Given the description of an element on the screen output the (x, y) to click on. 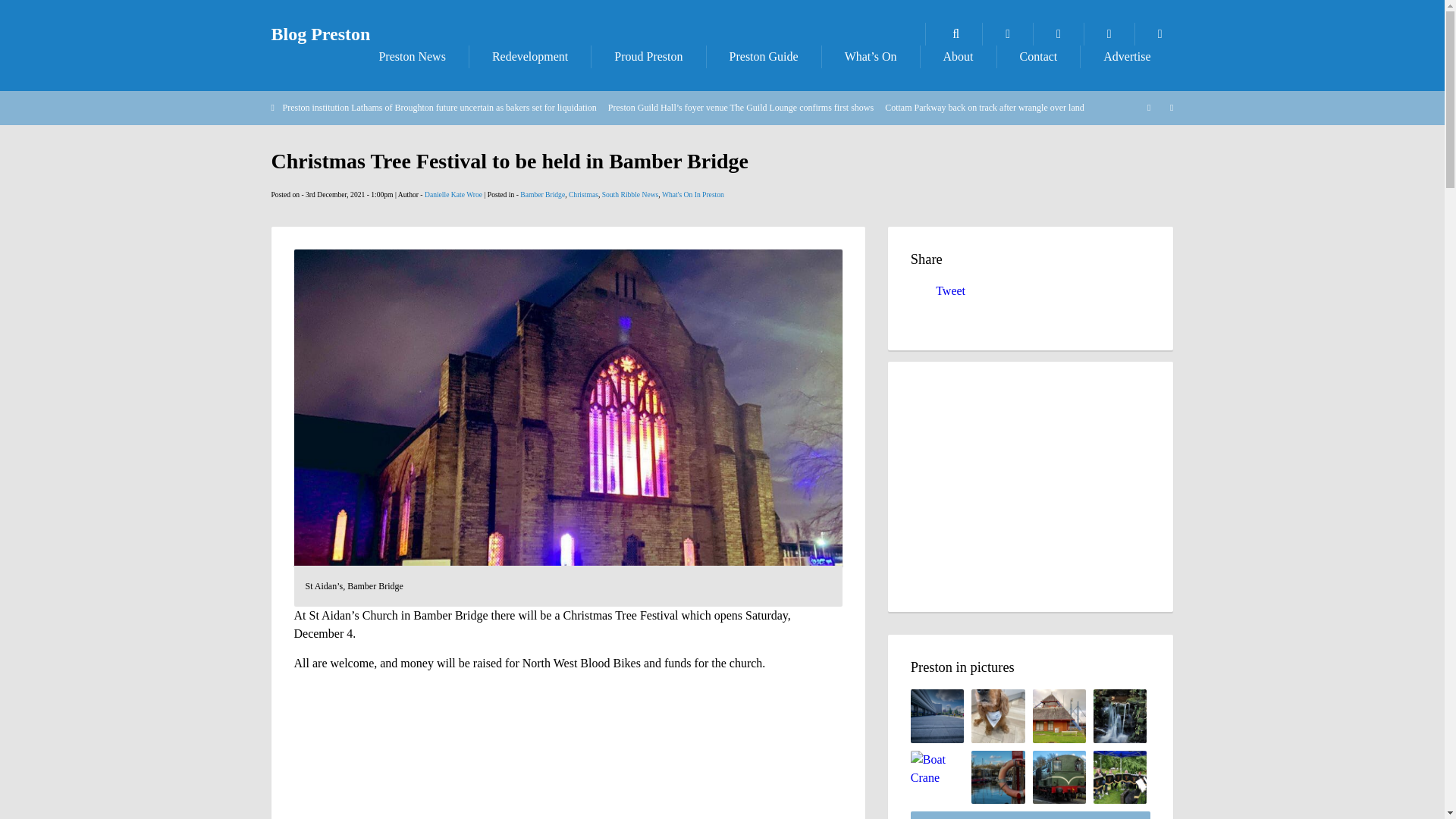
Contact Blog Preston (1038, 56)
South Ribble News (630, 194)
Preston Guide (763, 56)
Redevelopment news in and around Preston (529, 56)
Blog Preston on Twitter (1109, 33)
Advertise (1126, 56)
Christmas (583, 194)
Danielle Kate Wroe (453, 194)
About Blog Preston (957, 56)
